Given the description of an element on the screen output the (x, y) to click on. 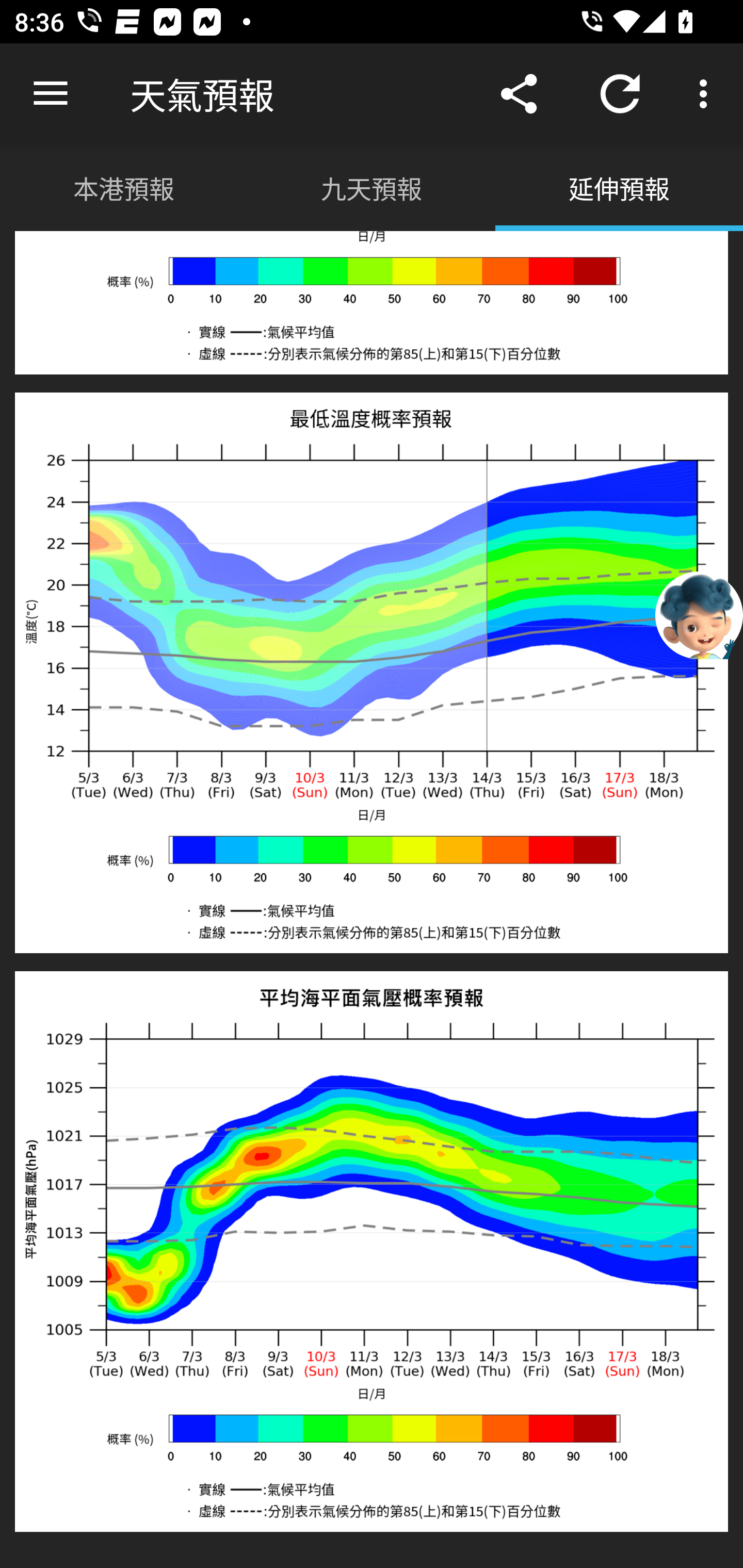
向上瀏覽 (50, 93)
分享 (518, 93)
重新整理 (619, 93)
更多選項 (706, 93)
本港預報 (123, 187)
九天預報 (371, 187)
聊天機械人 (699, 614)
